Given the description of an element on the screen output the (x, y) to click on. 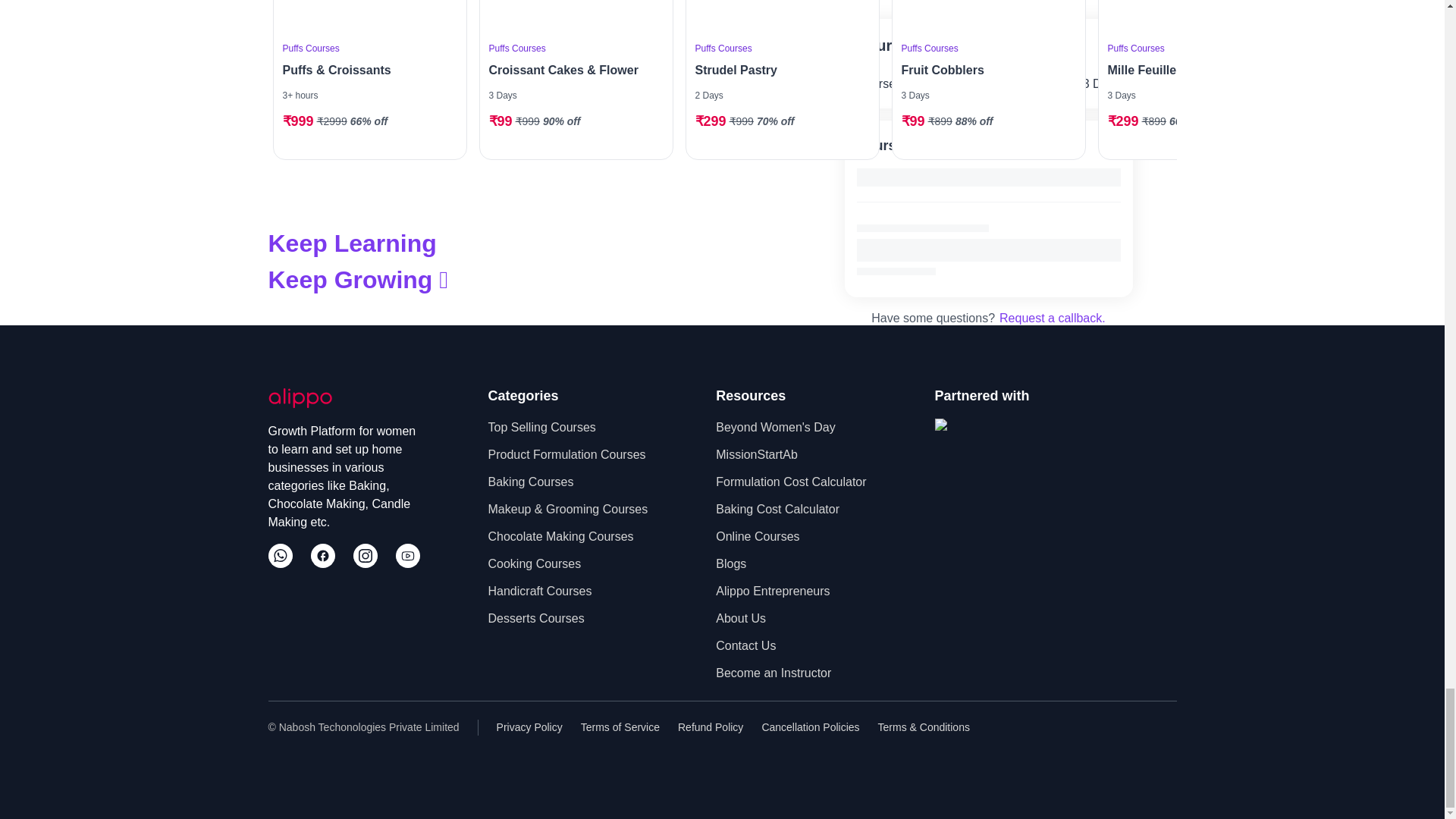
Top Selling Courses (541, 427)
Mille Feuille (1189, 70)
Fruit Cobblers (984, 70)
Strudel Pastry (777, 70)
Product Formulation Courses (566, 454)
Baking Courses (530, 482)
